Given the description of an element on the screen output the (x, y) to click on. 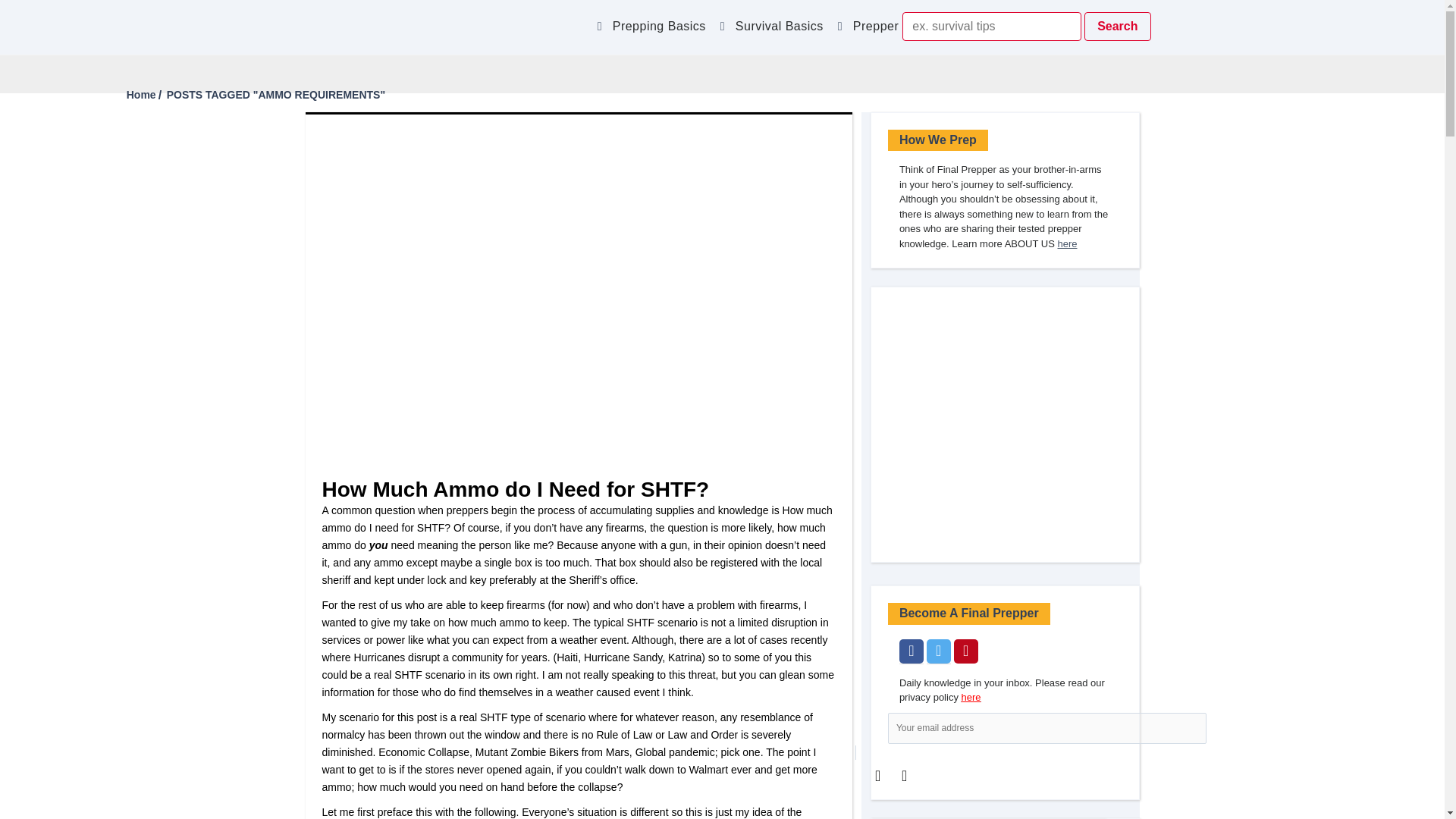
Search (1117, 26)
How Much Ammo do I Need for SHTF? (515, 489)
Prepper Resources (911, 30)
Survival Basics (782, 30)
Search (1117, 26)
Prepping Basics (661, 30)
